Given the description of an element on the screen output the (x, y) to click on. 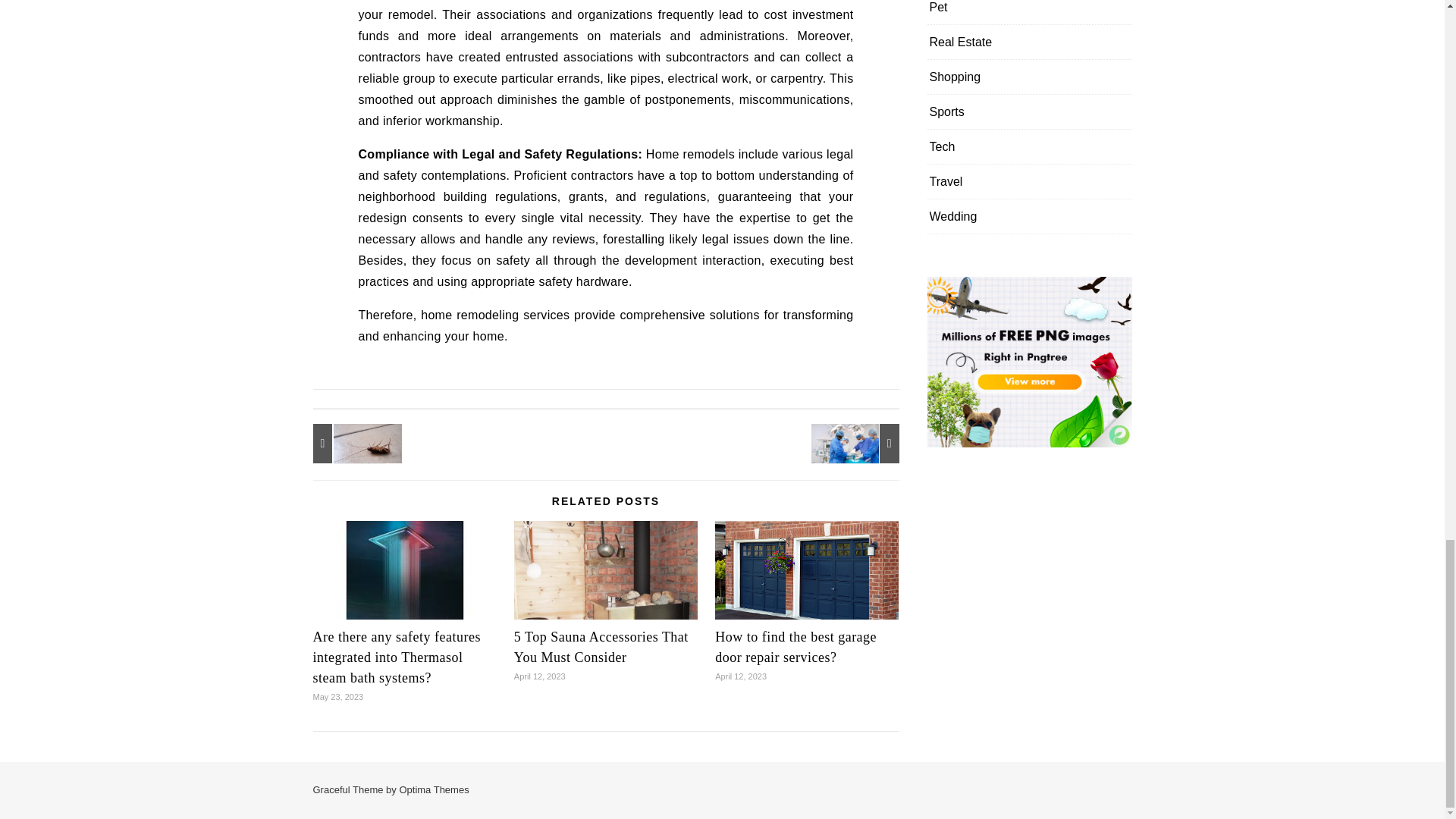
How to find the best garage door repair services? (795, 647)
The Role of Government in Healthcare Financing (865, 443)
5 Top Sauna Accessories That You Must Consider (600, 647)
